Given the description of an element on the screen output the (x, y) to click on. 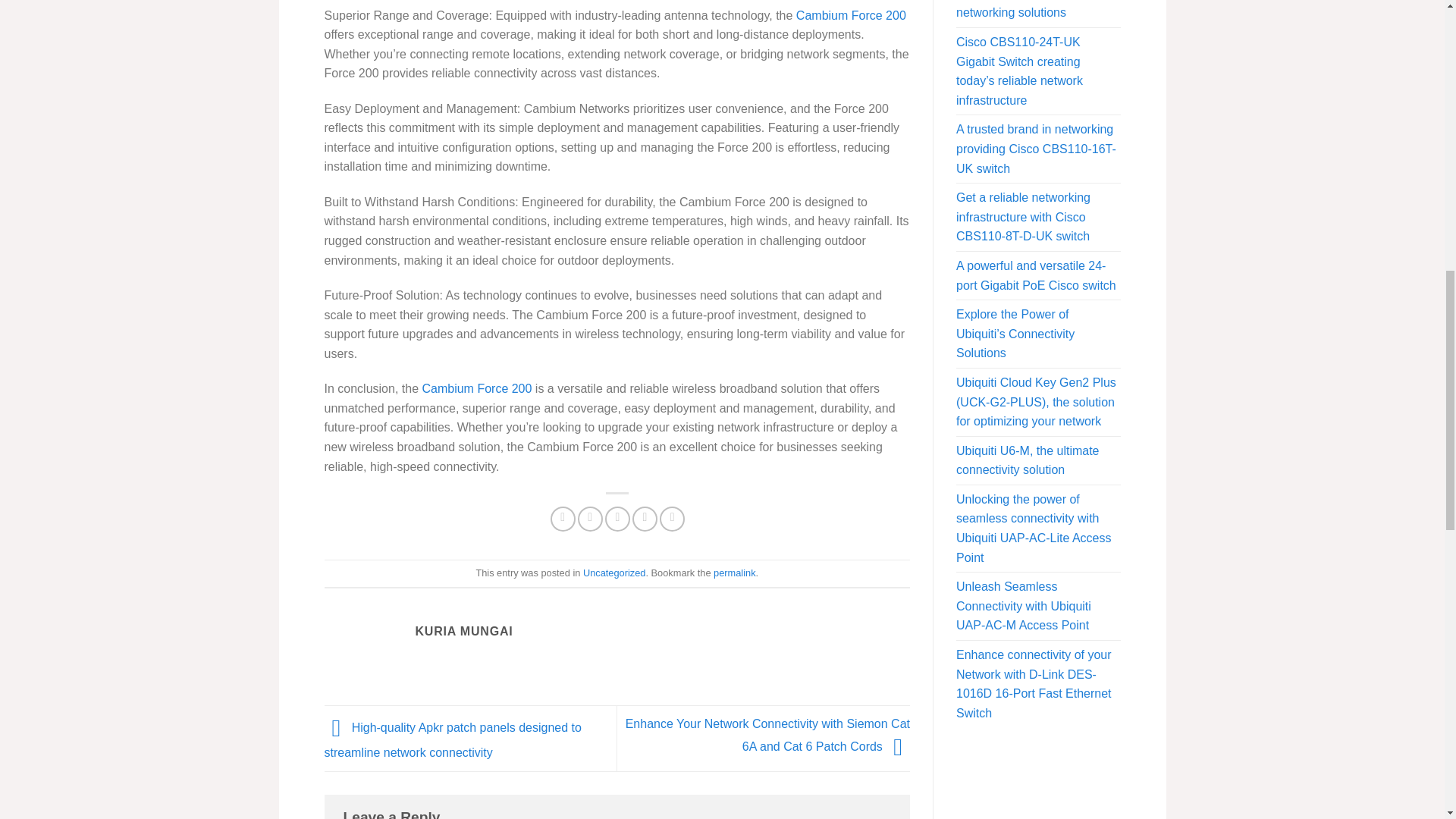
Share on Facebook (562, 518)
